Given the description of an element on the screen output the (x, y) to click on. 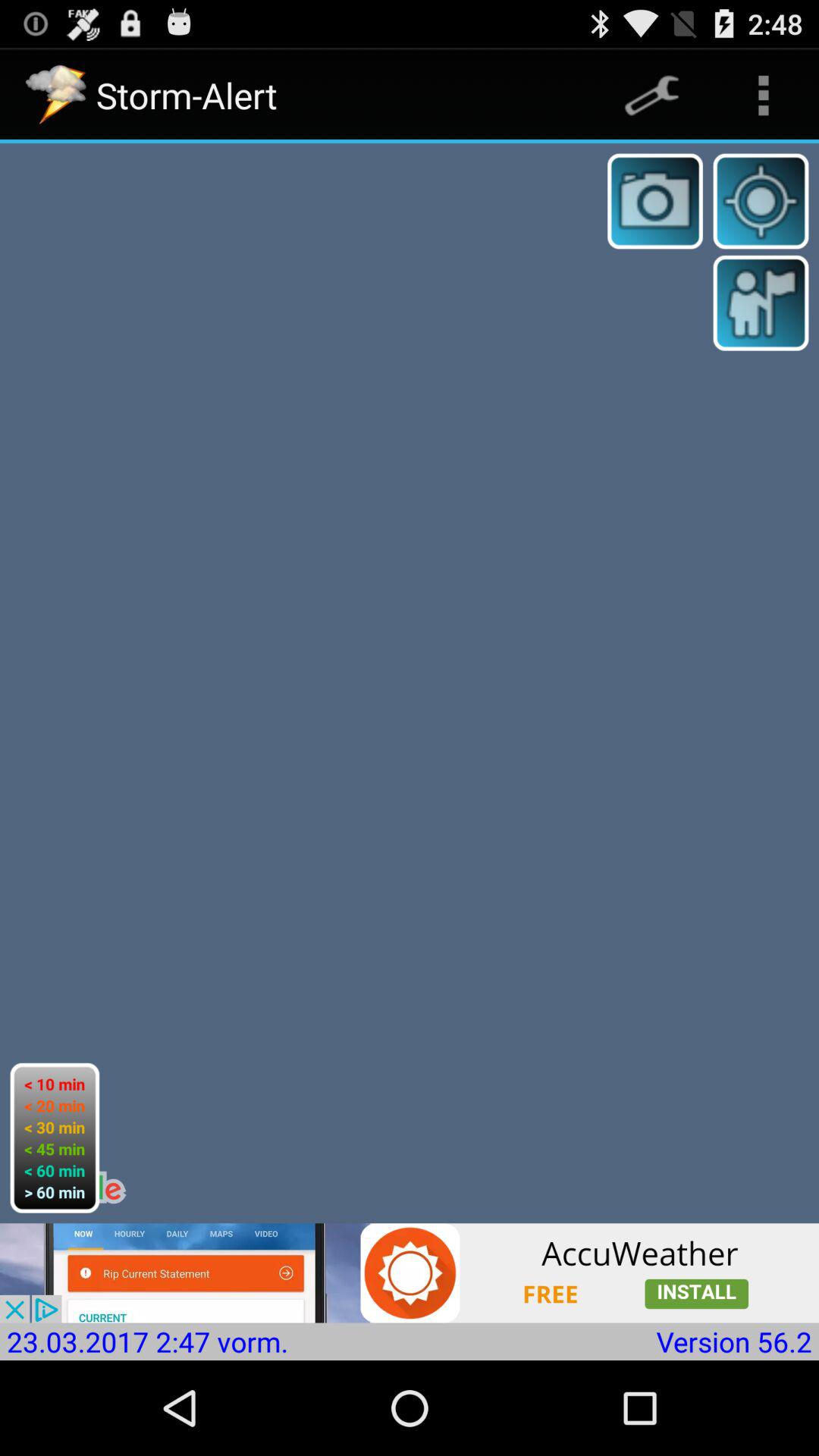
camera (654, 201)
